Given the description of an element on the screen output the (x, y) to click on. 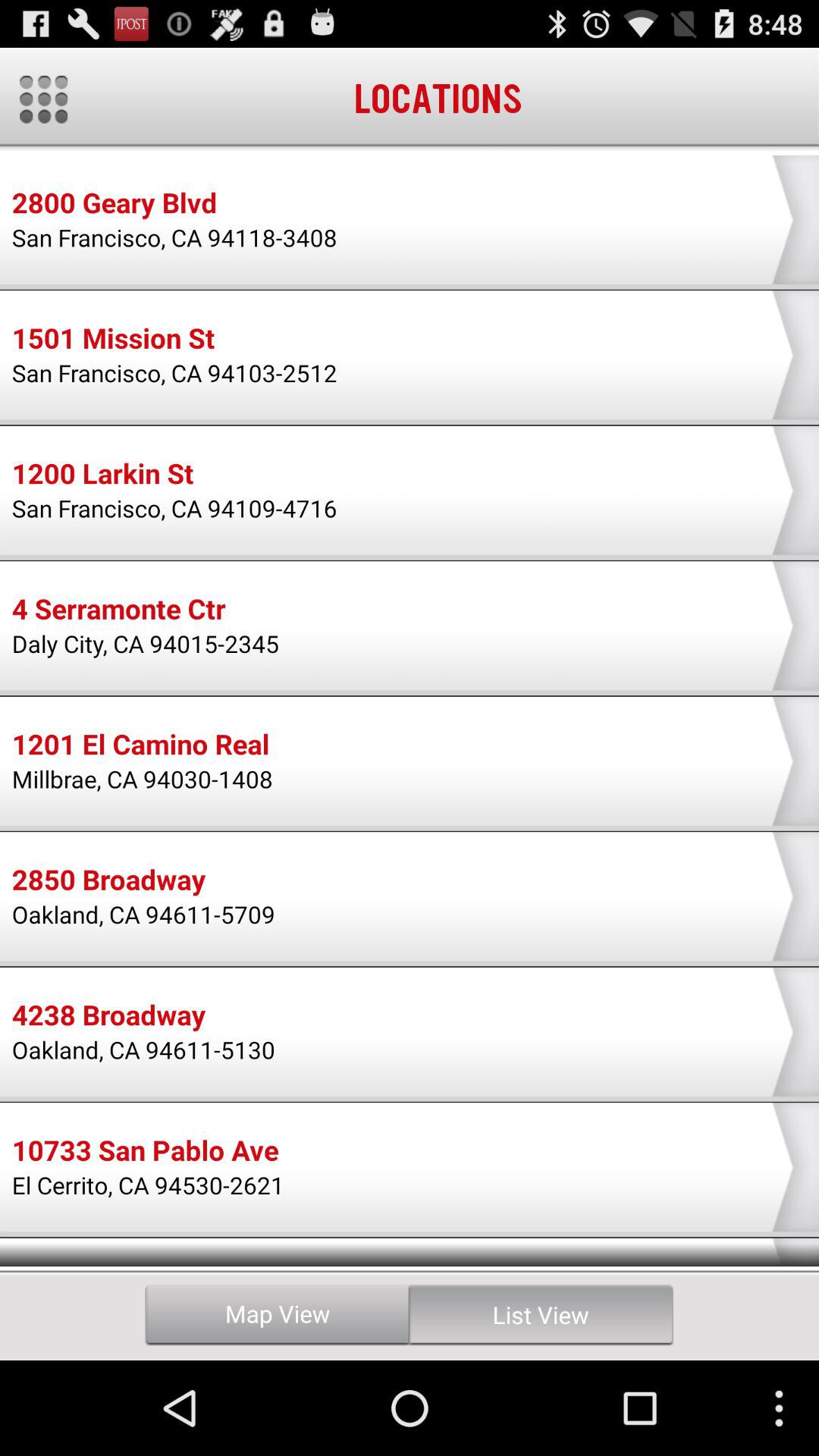
launch the icon below san francisco ca app (112, 340)
